Given the description of an element on the screen output the (x, y) to click on. 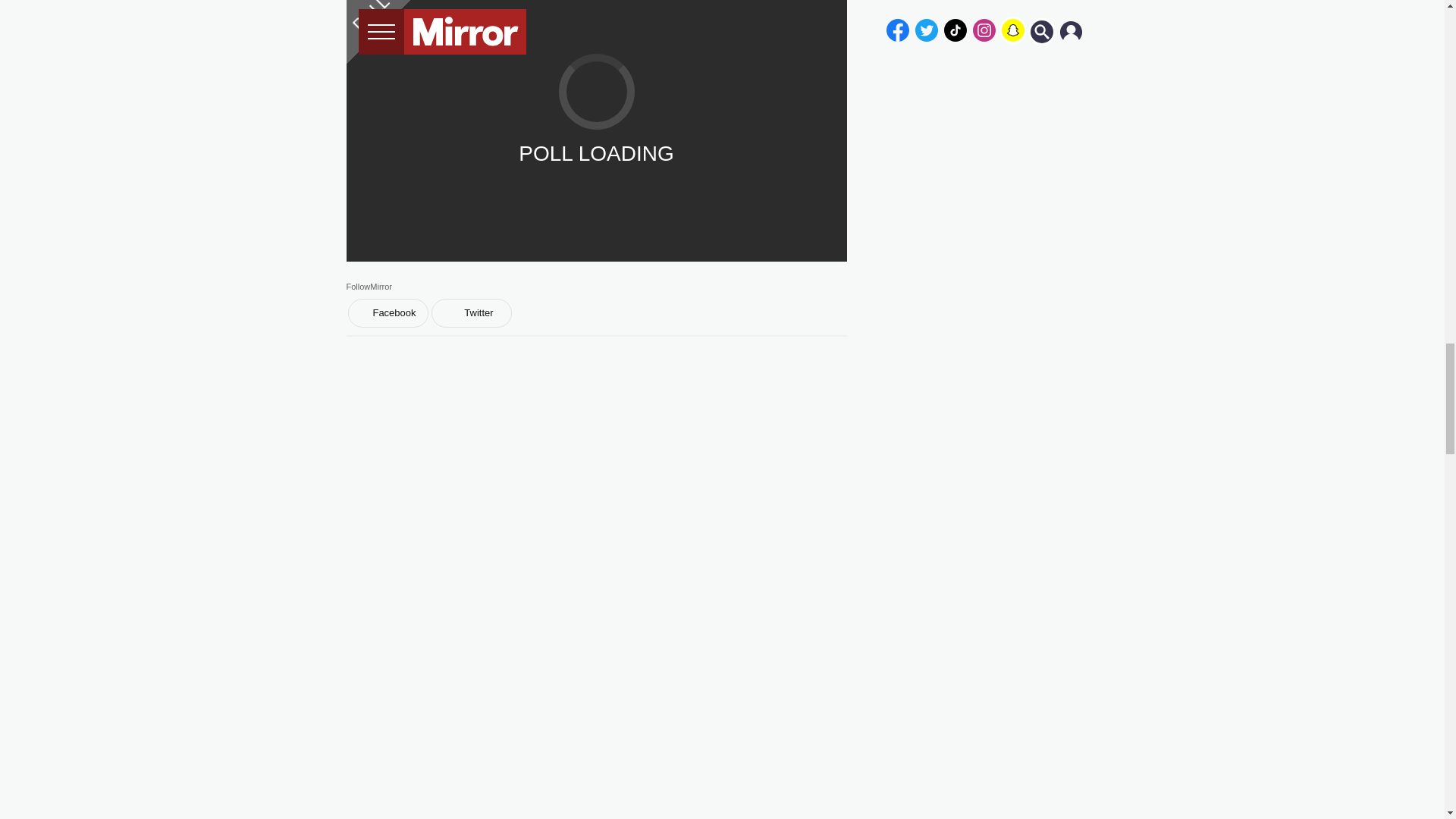
Facebook (387, 312)
Twitter (470, 312)
YES (596, 151)
NO (596, 202)
